Given the description of an element on the screen output the (x, y) to click on. 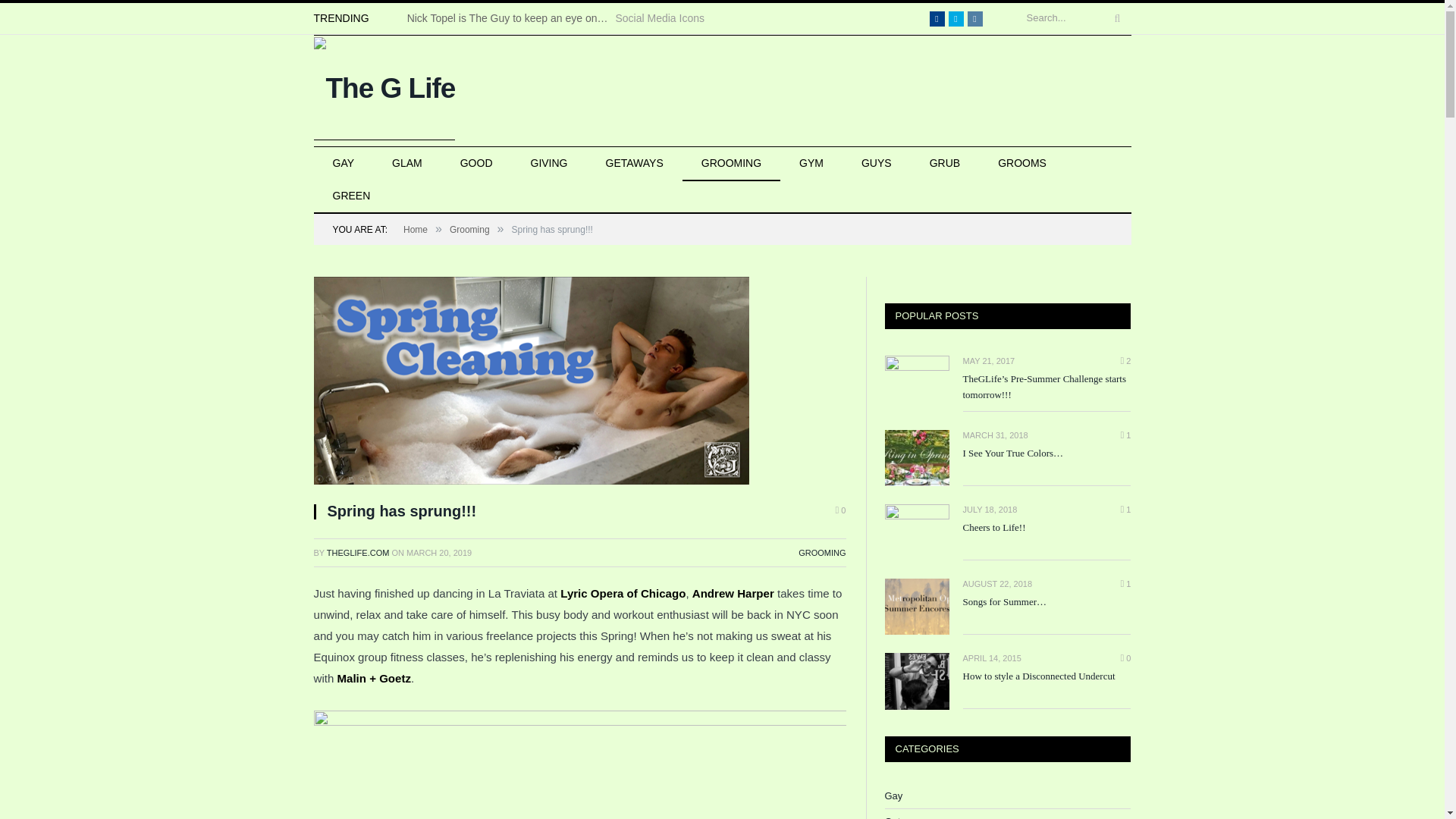
GLAM (406, 163)
Home (415, 229)
GUYS (877, 163)
instagram (975, 18)
GROOMS (1021, 163)
Facebook (937, 18)
Lyric Opera of Chicago (622, 593)
GETAWAYS (634, 163)
GREEN (352, 196)
GYM (811, 163)
Grooming (469, 229)
GAY (344, 163)
Spring has sprung!!! (579, 382)
instagram (975, 18)
GROOMING (821, 552)
